Given the description of an element on the screen output the (x, y) to click on. 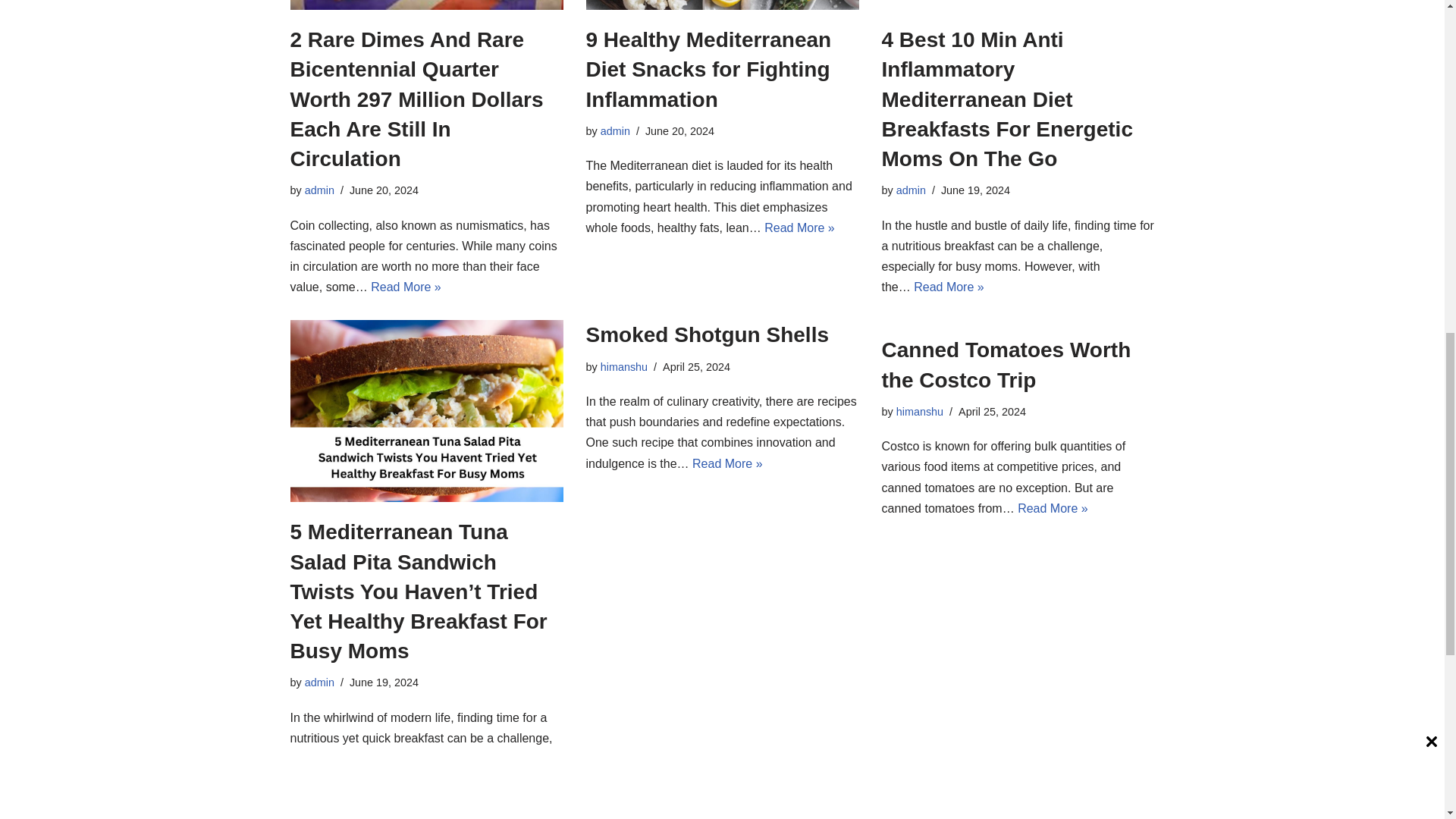
admin (614, 131)
Posts by admin (319, 190)
admin (319, 190)
Posts by admin (911, 190)
Posts by admin (614, 131)
Posts by admin (319, 682)
